Given the description of an element on the screen output the (x, y) to click on. 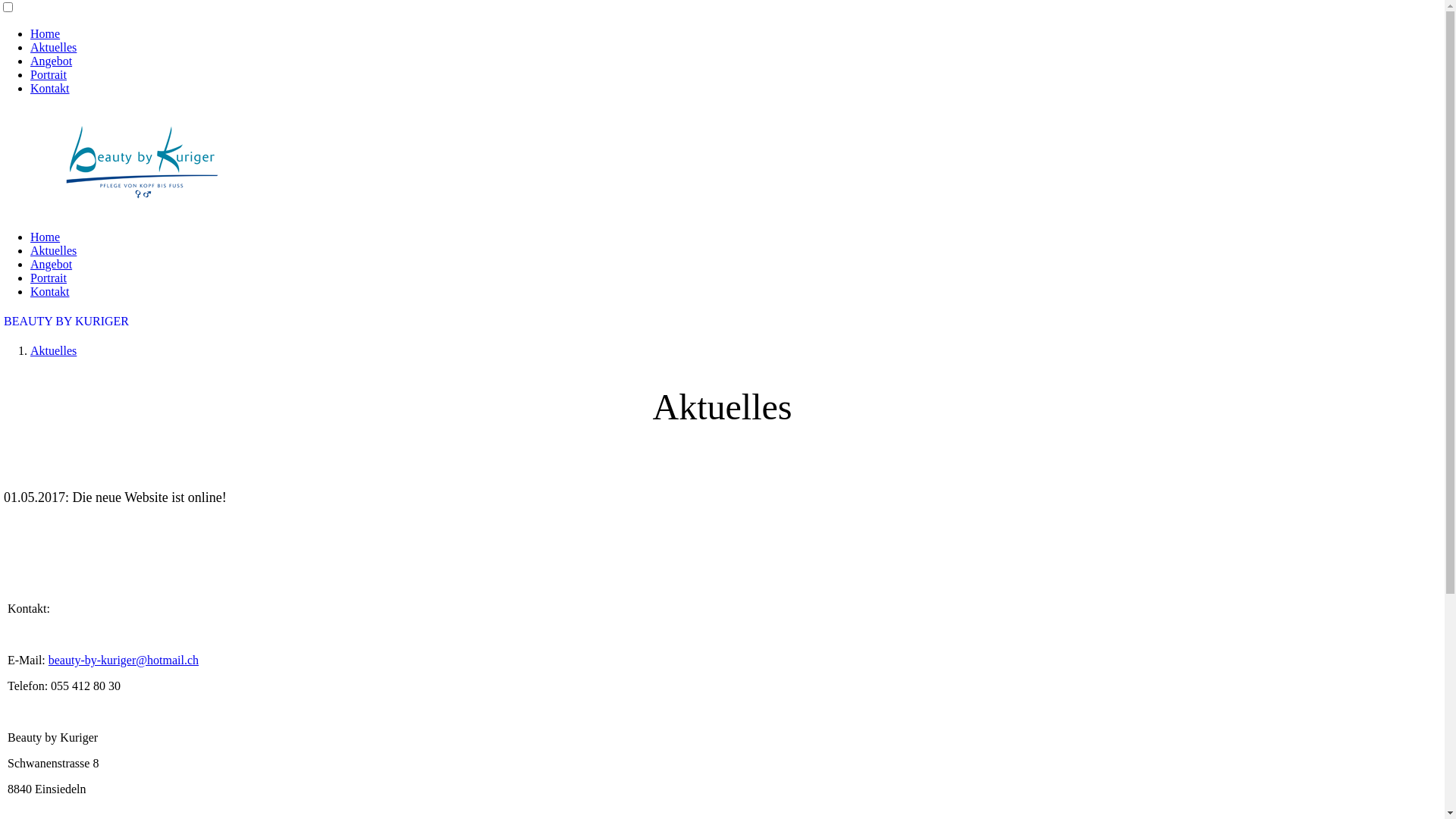
Kontakt Element type: text (49, 87)
Aktuelles Element type: text (53, 46)
Aktuelles Element type: text (53, 250)
Portrait Element type: text (48, 74)
beauty-by-kuriger@hotmail.ch Element type: text (123, 659)
Home Element type: text (44, 236)
Kontakt Element type: text (49, 291)
Portrait Element type: text (48, 277)
Aktuelles Element type: text (53, 350)
Angebot Element type: text (51, 60)
Angebot Element type: text (51, 263)
Home Element type: text (44, 33)
BEAUTY BY KURIGER Element type: text (65, 320)
